Given the description of an element on the screen output the (x, y) to click on. 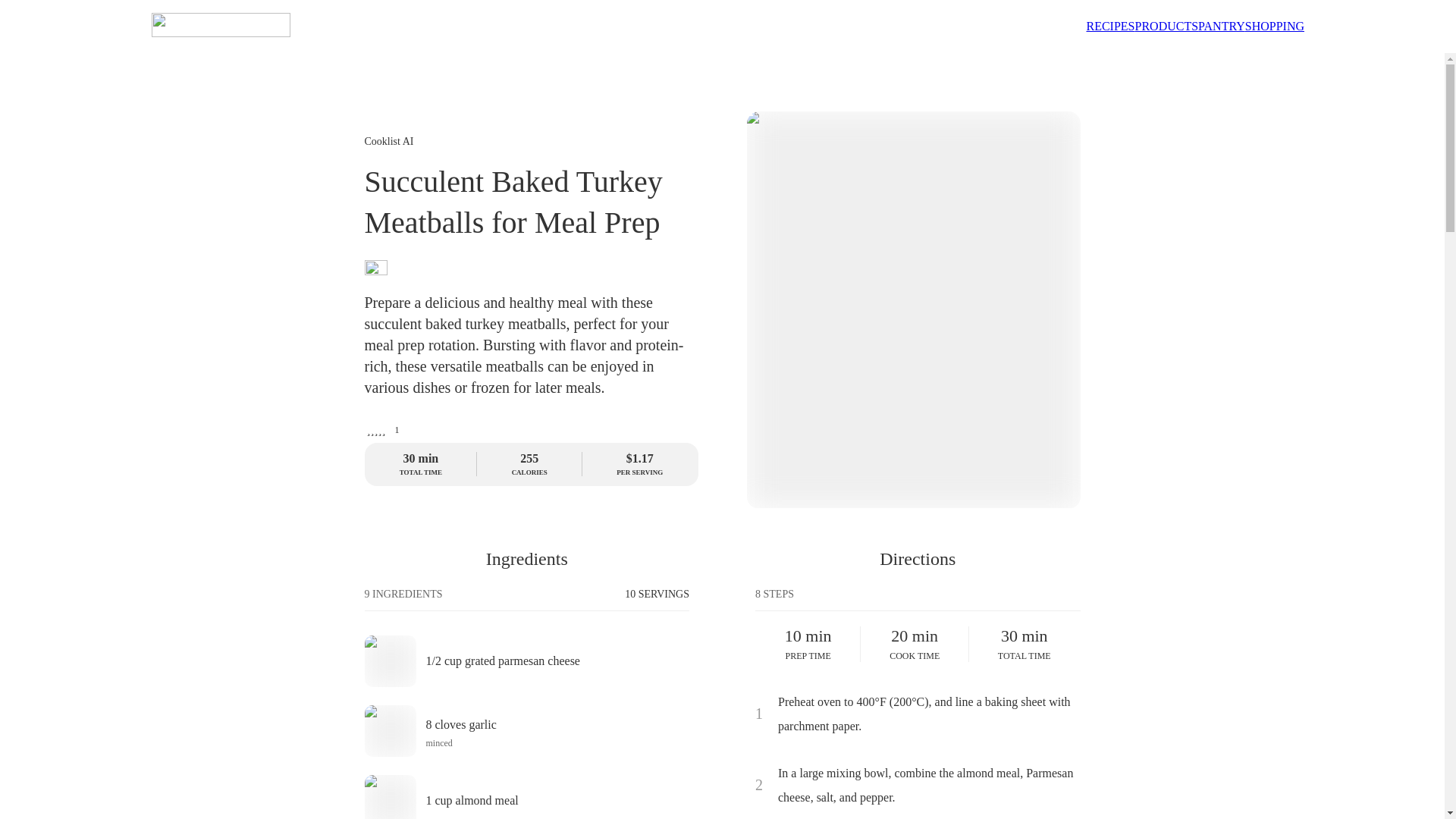
PRODUCTS (1166, 26)
SHOPPING (526, 730)
PANTRY (1274, 26)
RECIPES (1221, 26)
